Given the description of an element on the screen output the (x, y) to click on. 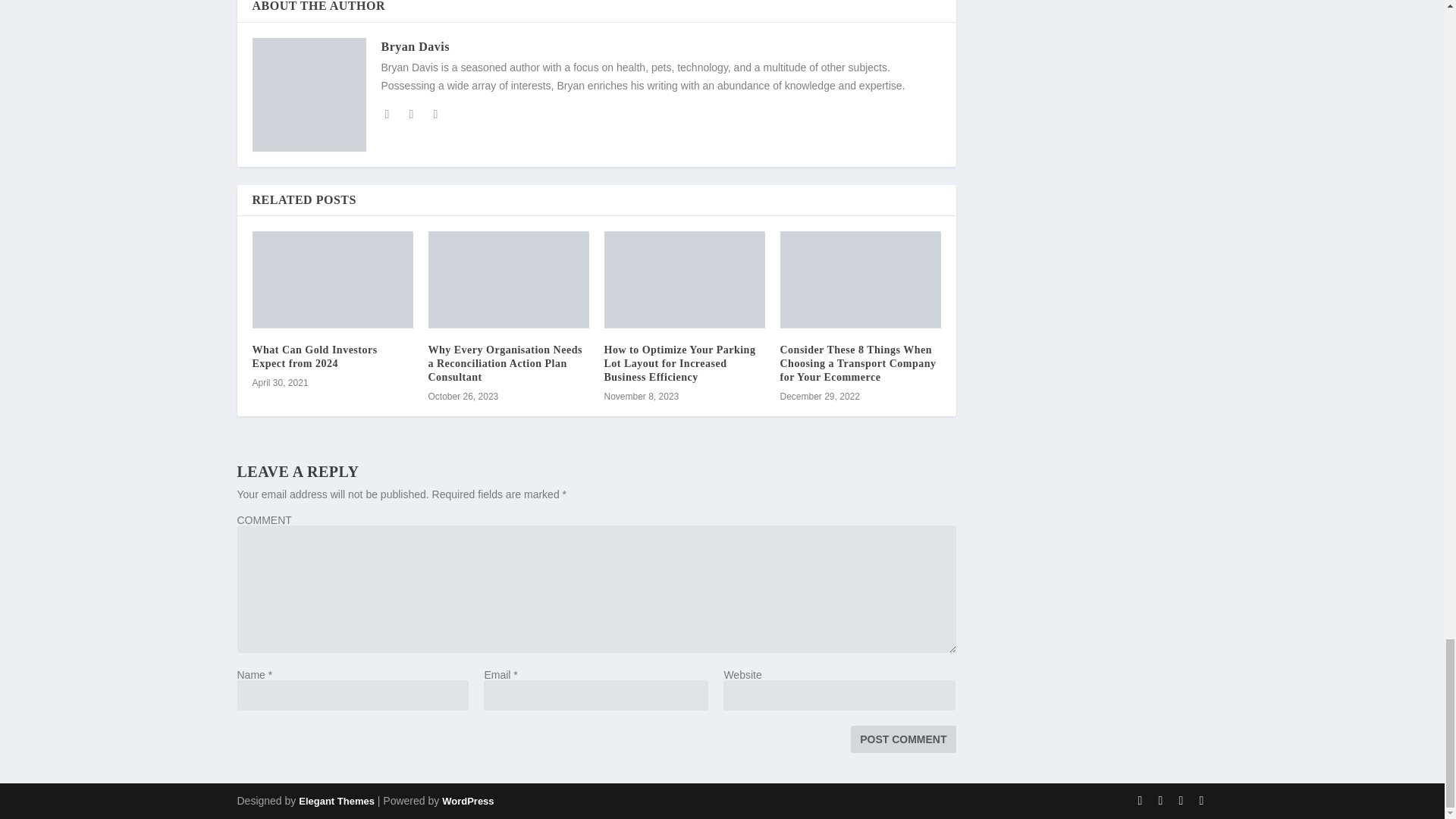
Post Comment (902, 738)
